Given the description of an element on the screen output the (x, y) to click on. 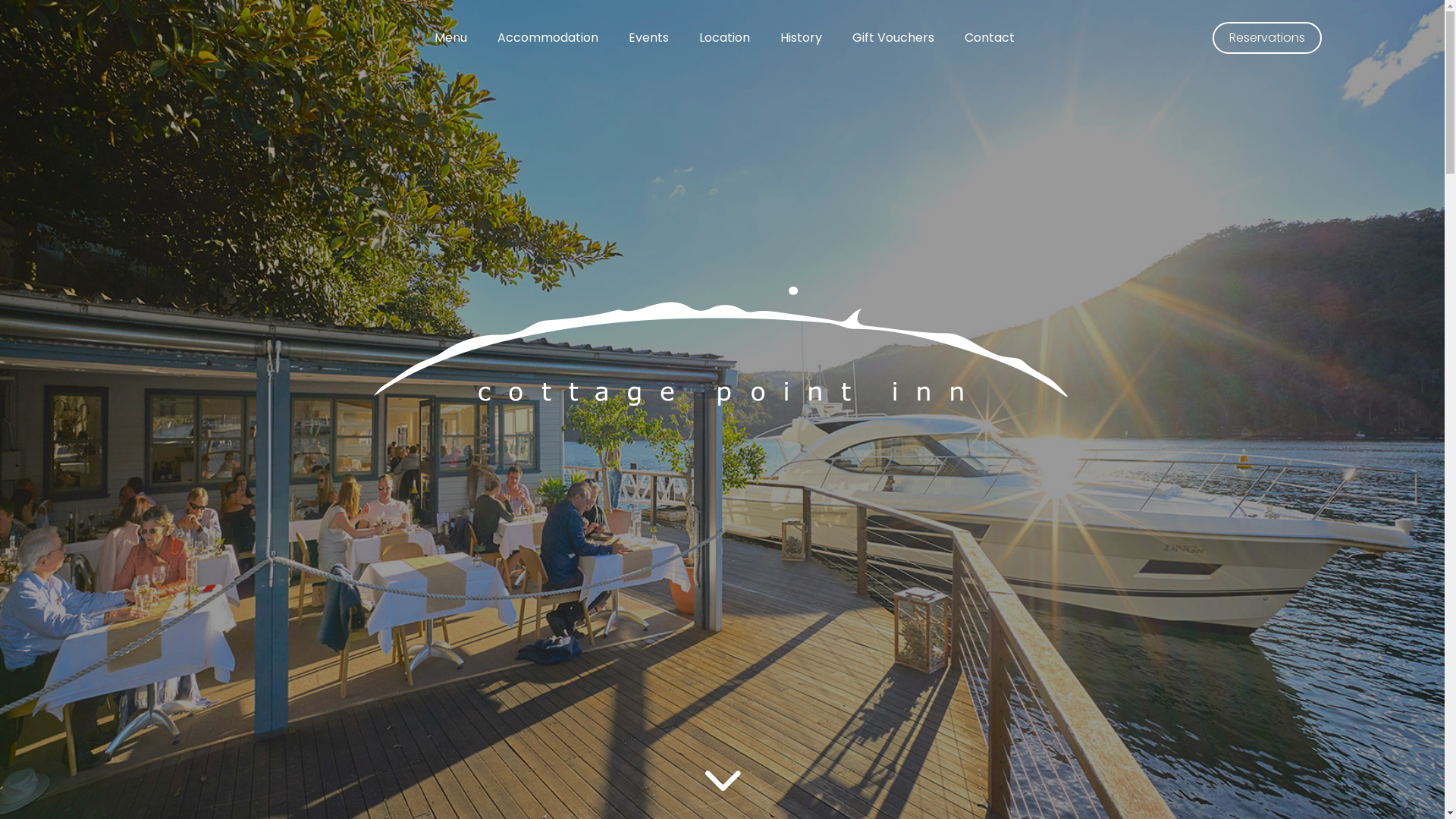
History Element type: text (800, 37)
Location Element type: text (724, 37)
Events Element type: text (647, 37)
Gift Vouchers Element type: text (893, 37)
Menu Element type: text (449, 37)
Contact Element type: text (989, 37)
Reservations Element type: text (1266, 37)
Accommodation Element type: text (547, 37)
